Given the description of an element on the screen output the (x, y) to click on. 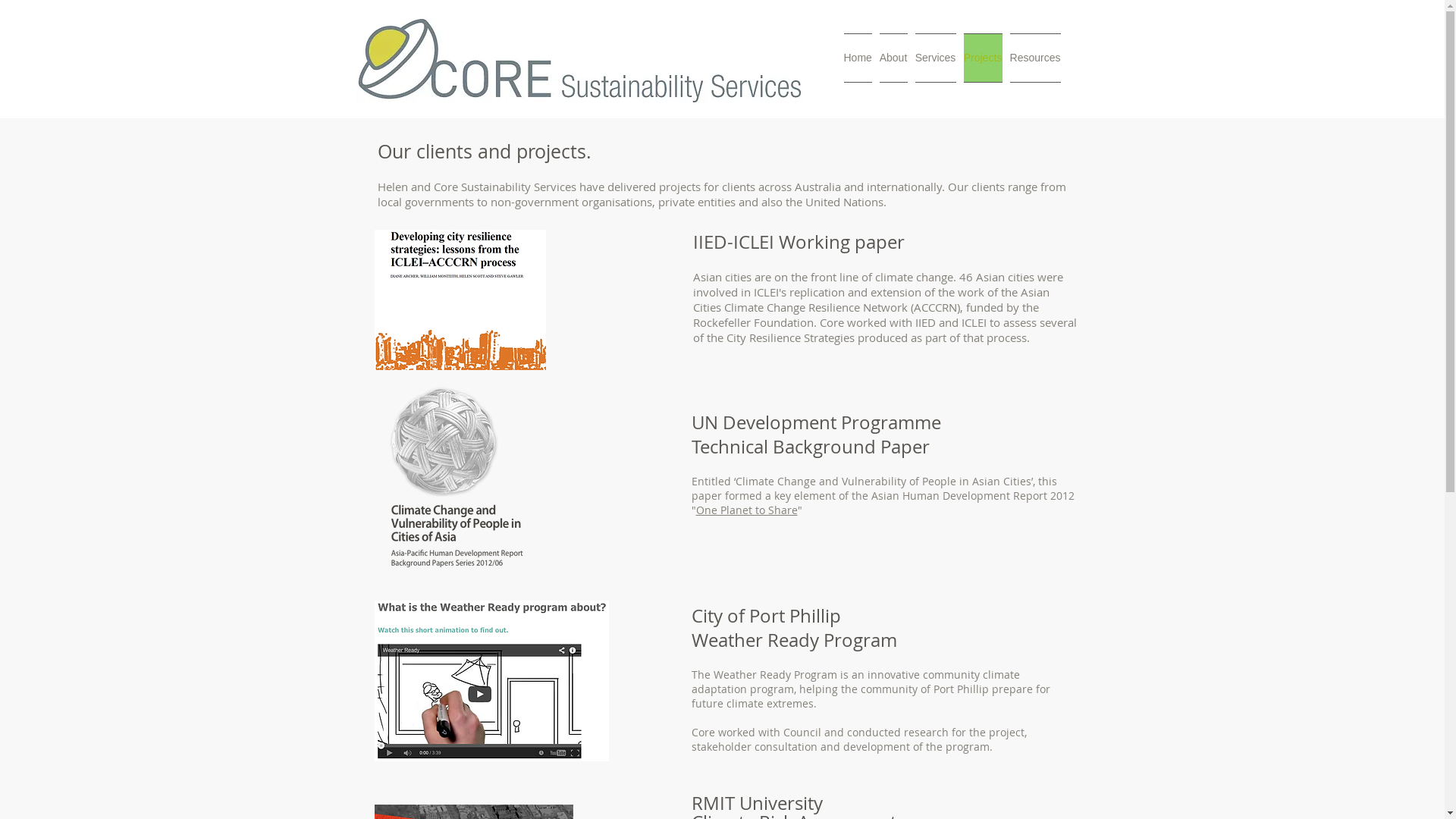
Resources Element type: text (1034, 57)
Projects Element type: text (983, 57)
One Planet to Share Element type: text (746, 509)
Services Element type: text (935, 57)
UN Report Clip.png Element type: hover (456, 477)
About Element type: text (892, 57)
core_logo_horz_rgb.jpg Element type: hover (580, 59)
WeatherReadyScreenShot.png Element type: hover (491, 680)
Home Element type: text (857, 57)
